Given the description of an element on the screen output the (x, y) to click on. 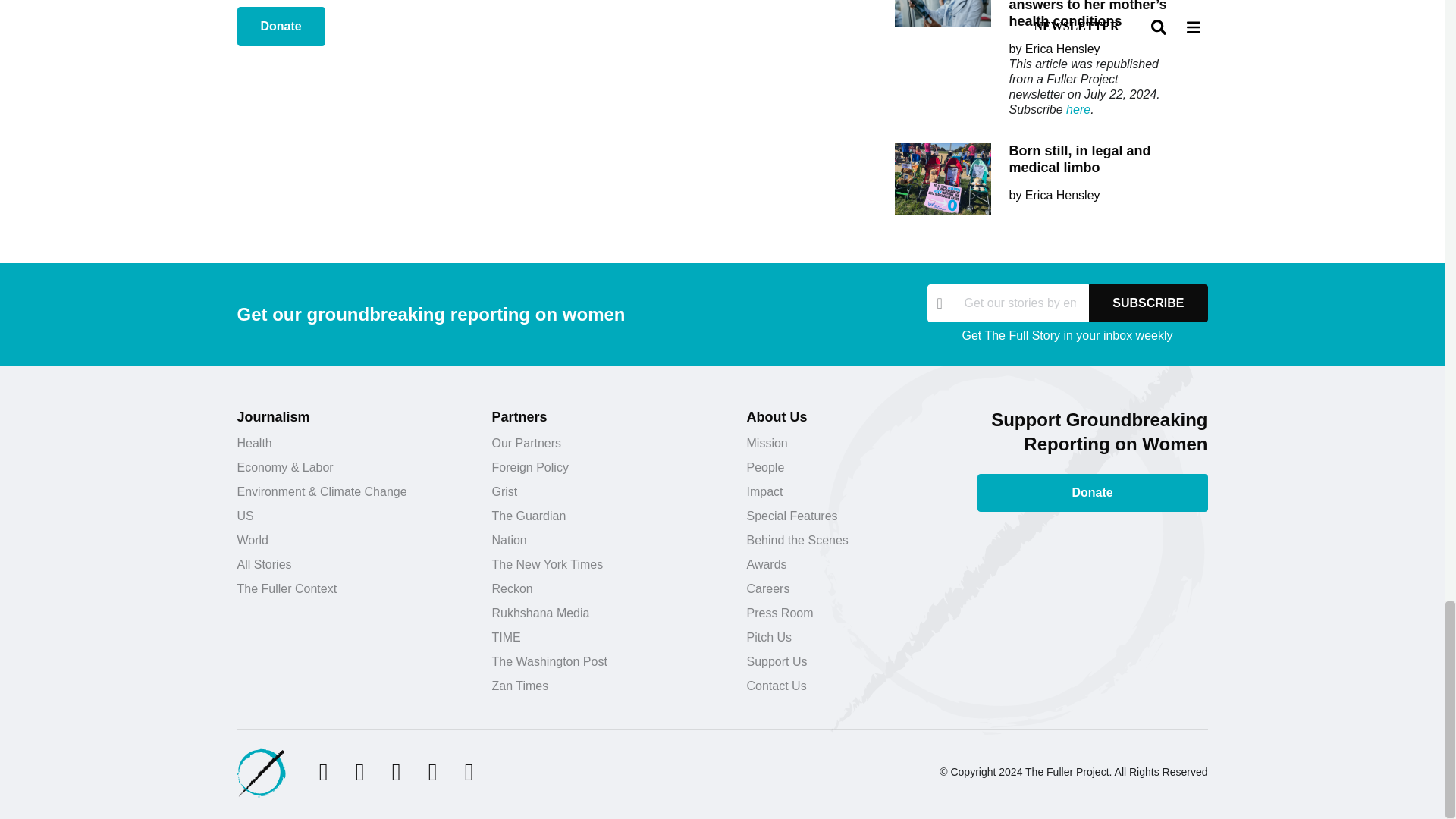
Facebook (359, 771)
Linkedin (432, 771)
Twitter (322, 771)
Mastodon (468, 771)
Instagram (395, 771)
